Given the description of an element on the screen output the (x, y) to click on. 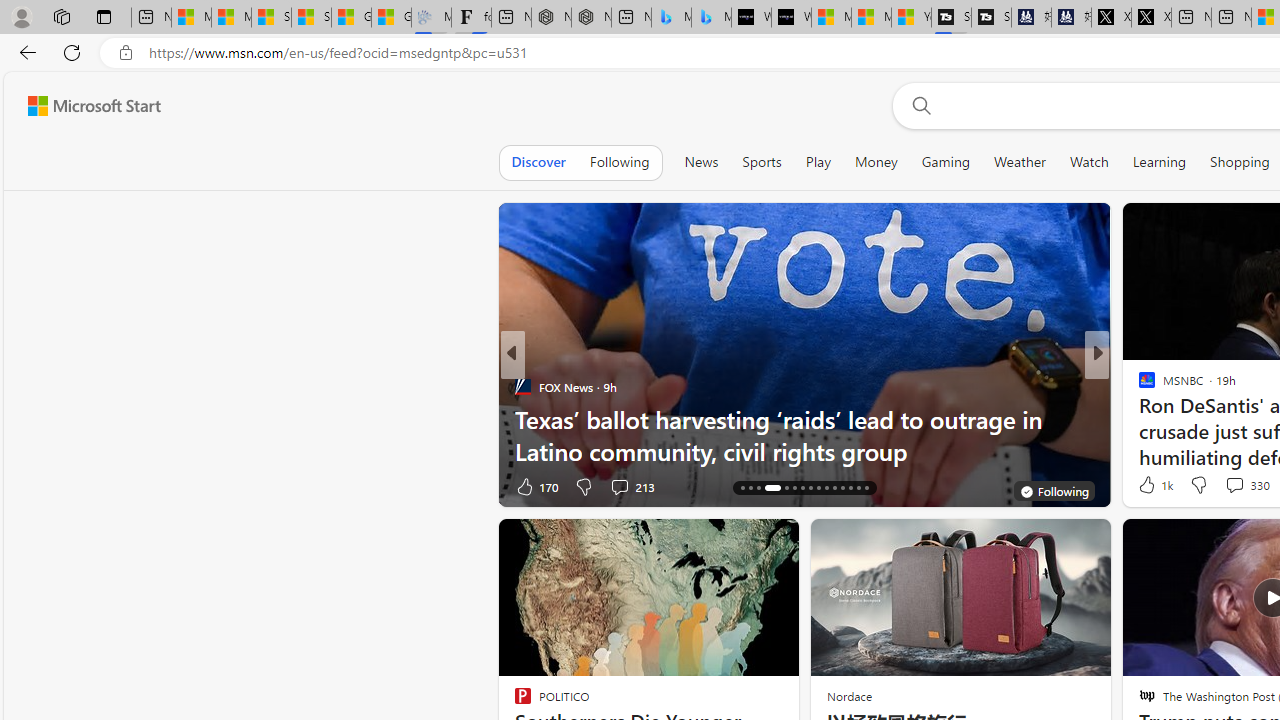
AutomationID: tab-30 (865, 487)
Comments turned off for this story (1222, 486)
AutomationID: tab-21 (793, 487)
87 Like (1149, 486)
Play (817, 161)
1k Like (1154, 484)
View comments 1 Comment (1229, 485)
View comments 96 Comment (1234, 485)
181 Like (1151, 486)
View comments 96 Comment (1244, 486)
View comments 39 Comment (11, 485)
ABC News (1138, 386)
